Given the description of an element on the screen output the (x, y) to click on. 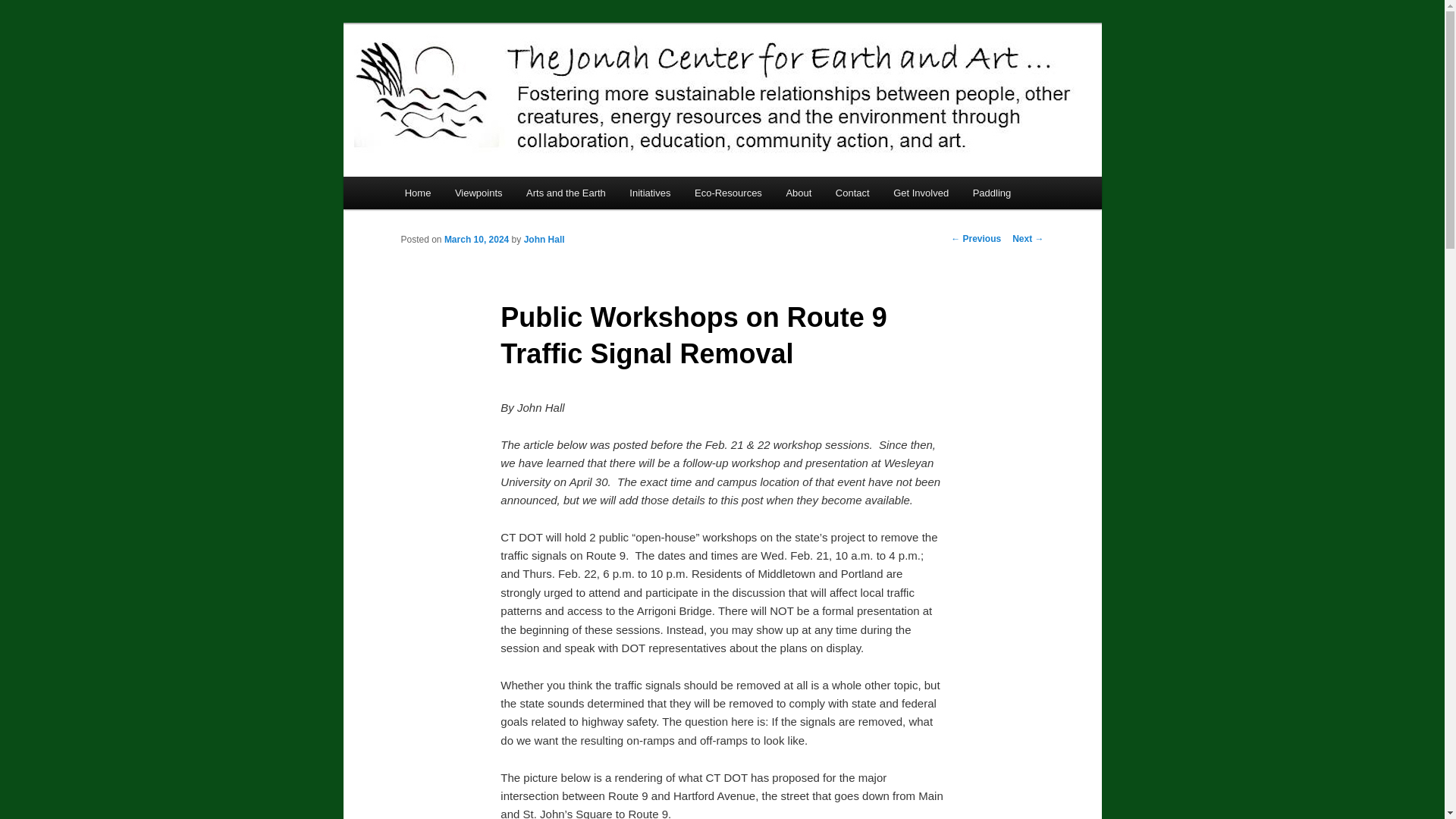
View all posts by John Hall (544, 239)
John Hall (544, 239)
Paddling (991, 192)
Viewpoints (477, 192)
Eco-Resources (727, 192)
Contact (852, 192)
Home (417, 192)
Get Involved (920, 192)
Initiatives (649, 192)
3:15 pm (476, 239)
